Given the description of an element on the screen output the (x, y) to click on. 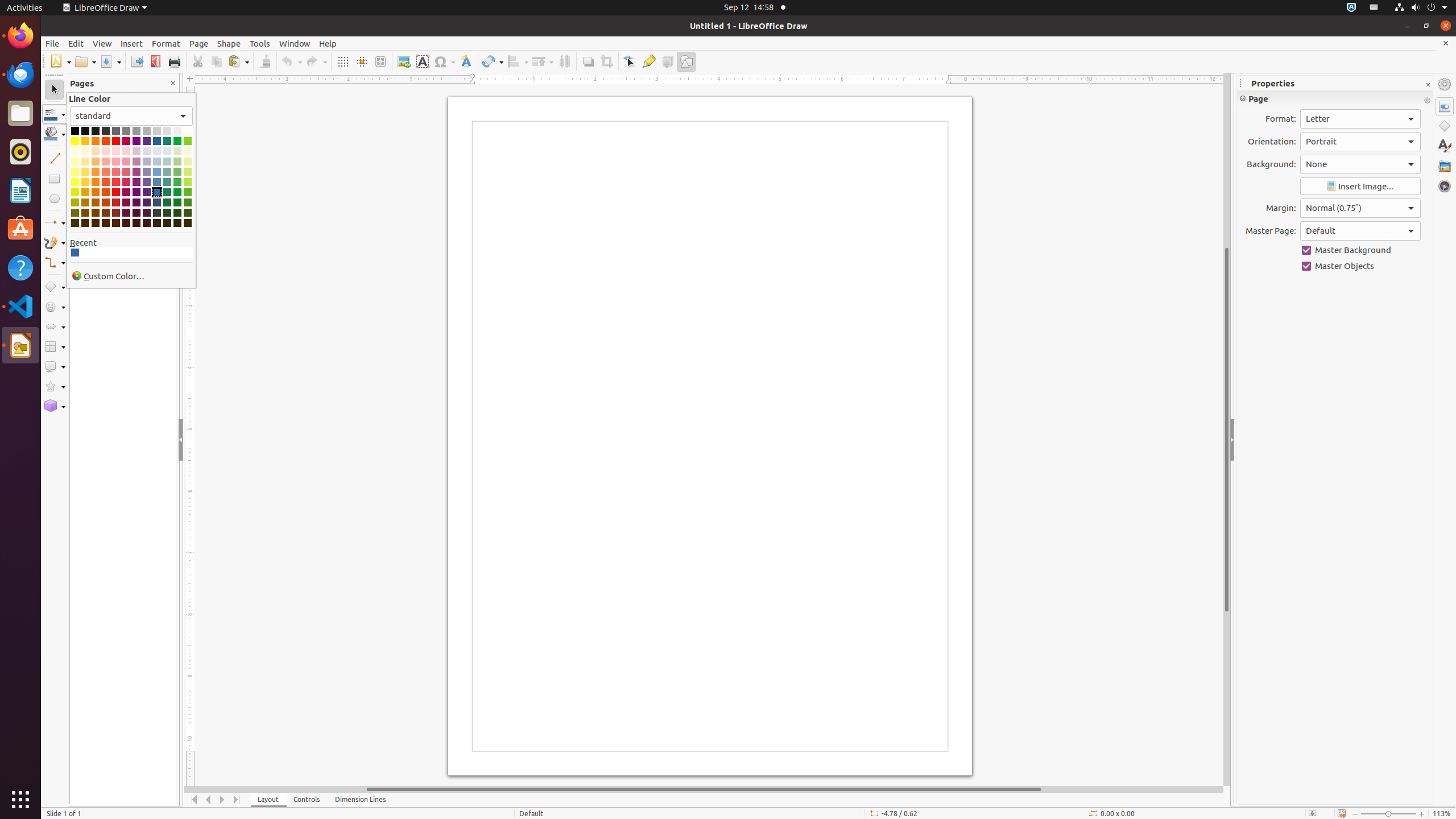
Margin: Element type: combo-box (1360, 207)
Arrow Shapes Element type: push-button (54, 326)
PDF Element type: push-button (155, 61)
Dark Brick 1 Element type: list-item (105, 192)
Light Indigo 3 Element type: list-item (146, 161)
